Given the description of an element on the screen output the (x, y) to click on. 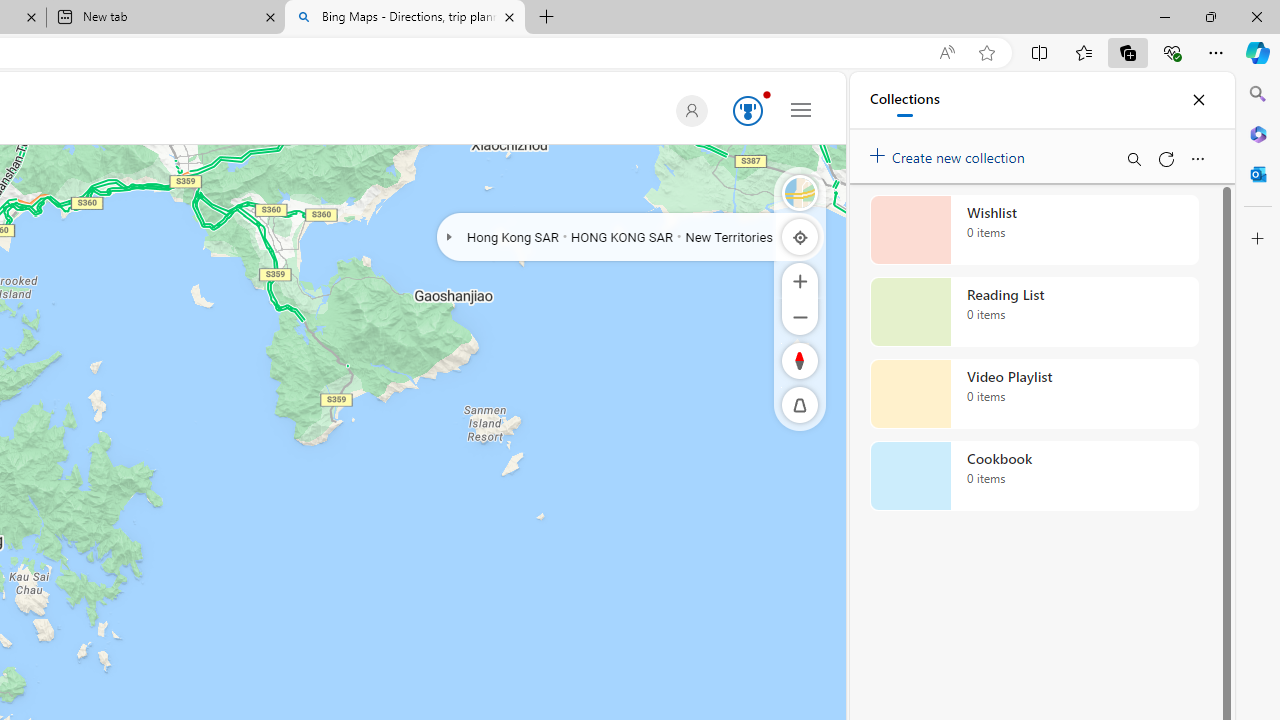
Reading List collection, 0 items (1034, 312)
Default Profile Picture (687, 110)
Locate me (799, 236)
Streetside (799, 192)
Expand/Collapse Geochain (448, 236)
Create new collection (950, 153)
Road (799, 192)
Zoom In (799, 280)
